Given the description of an element on the screen output the (x, y) to click on. 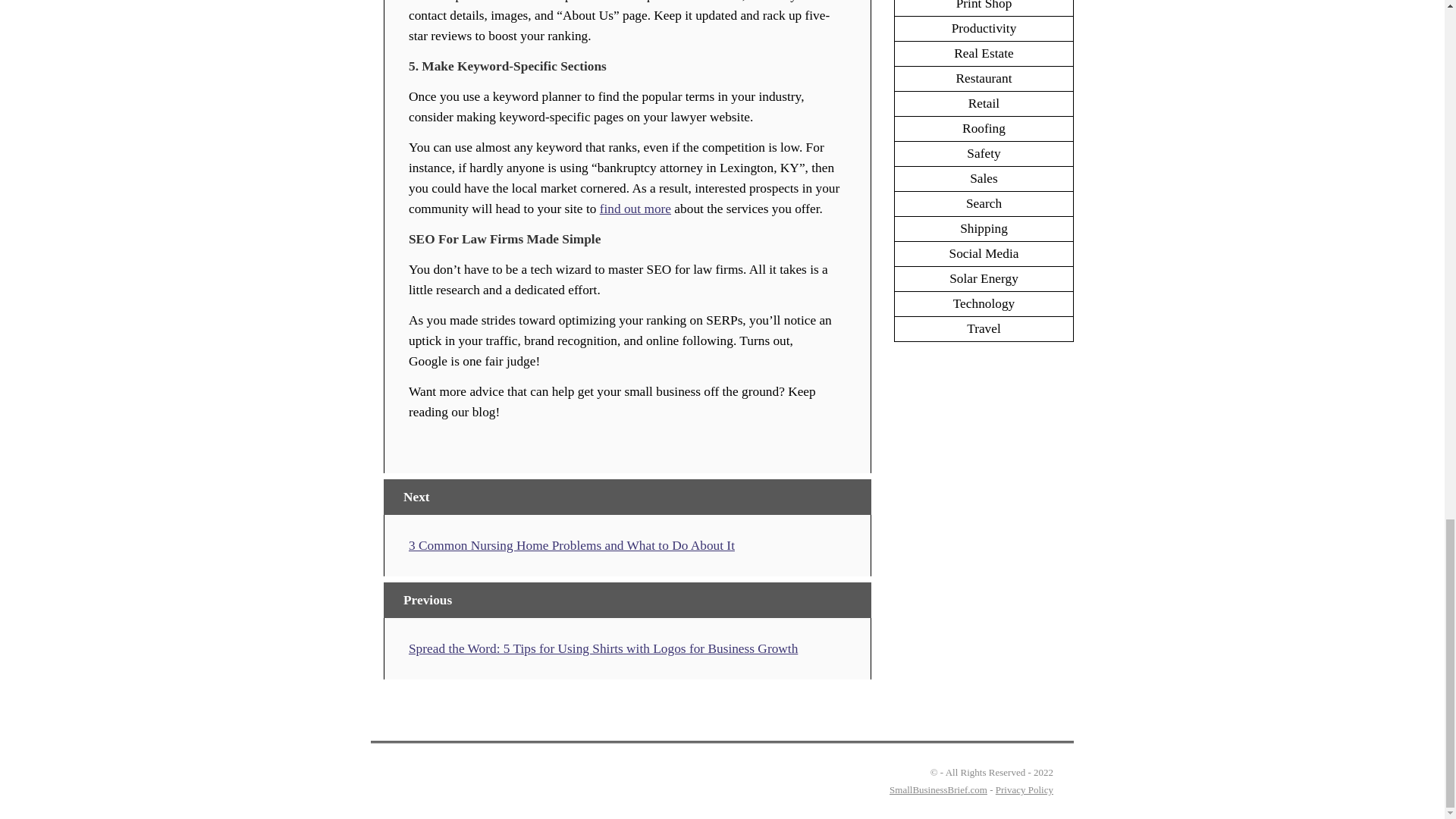
find out more (635, 208)
3 Common Nursing Home Problems and What to Do About It (572, 545)
